Given the description of an element on the screen output the (x, y) to click on. 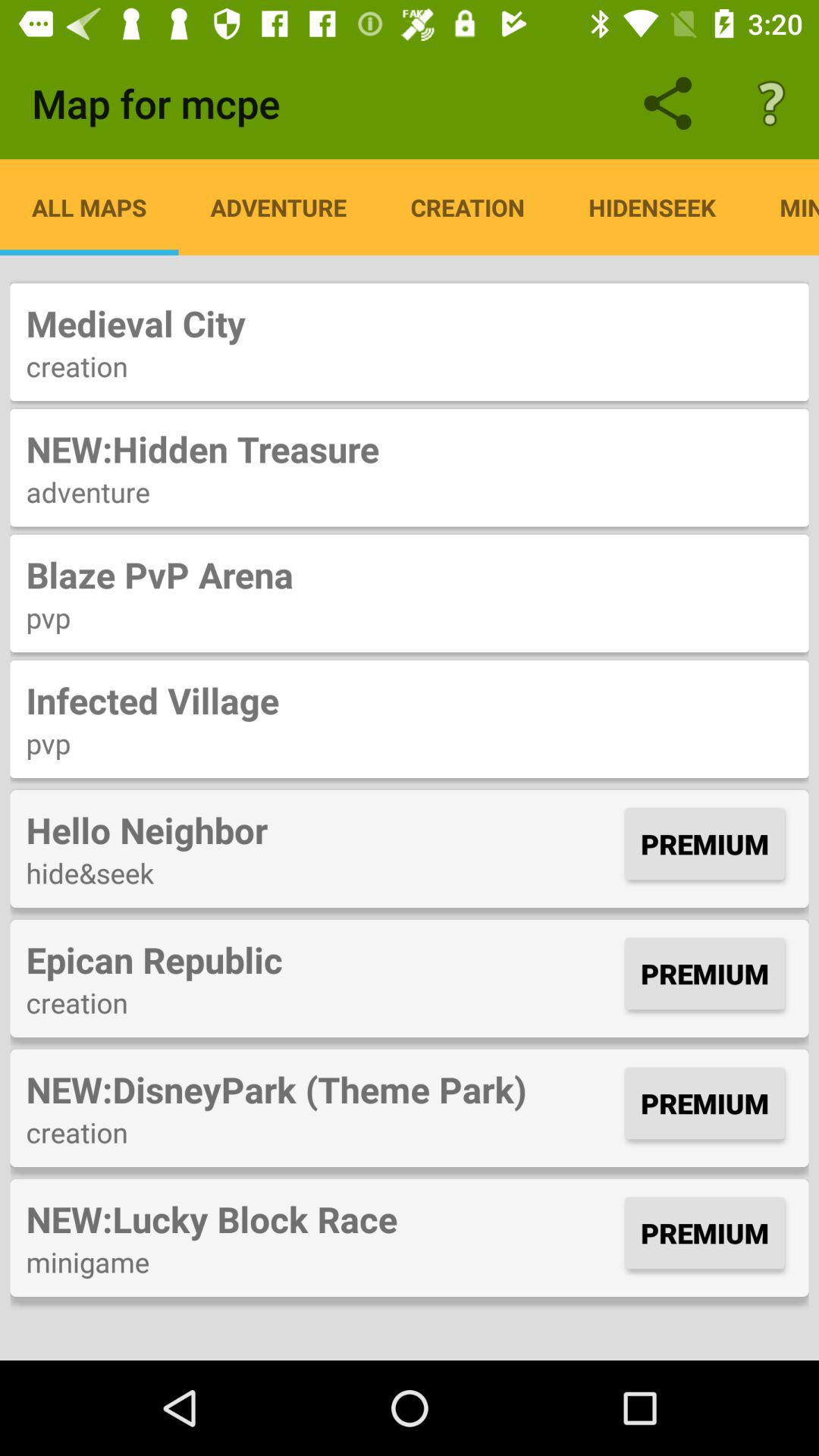
click icon above the hide&seek icon (321, 829)
